Given the description of an element on the screen output the (x, y) to click on. 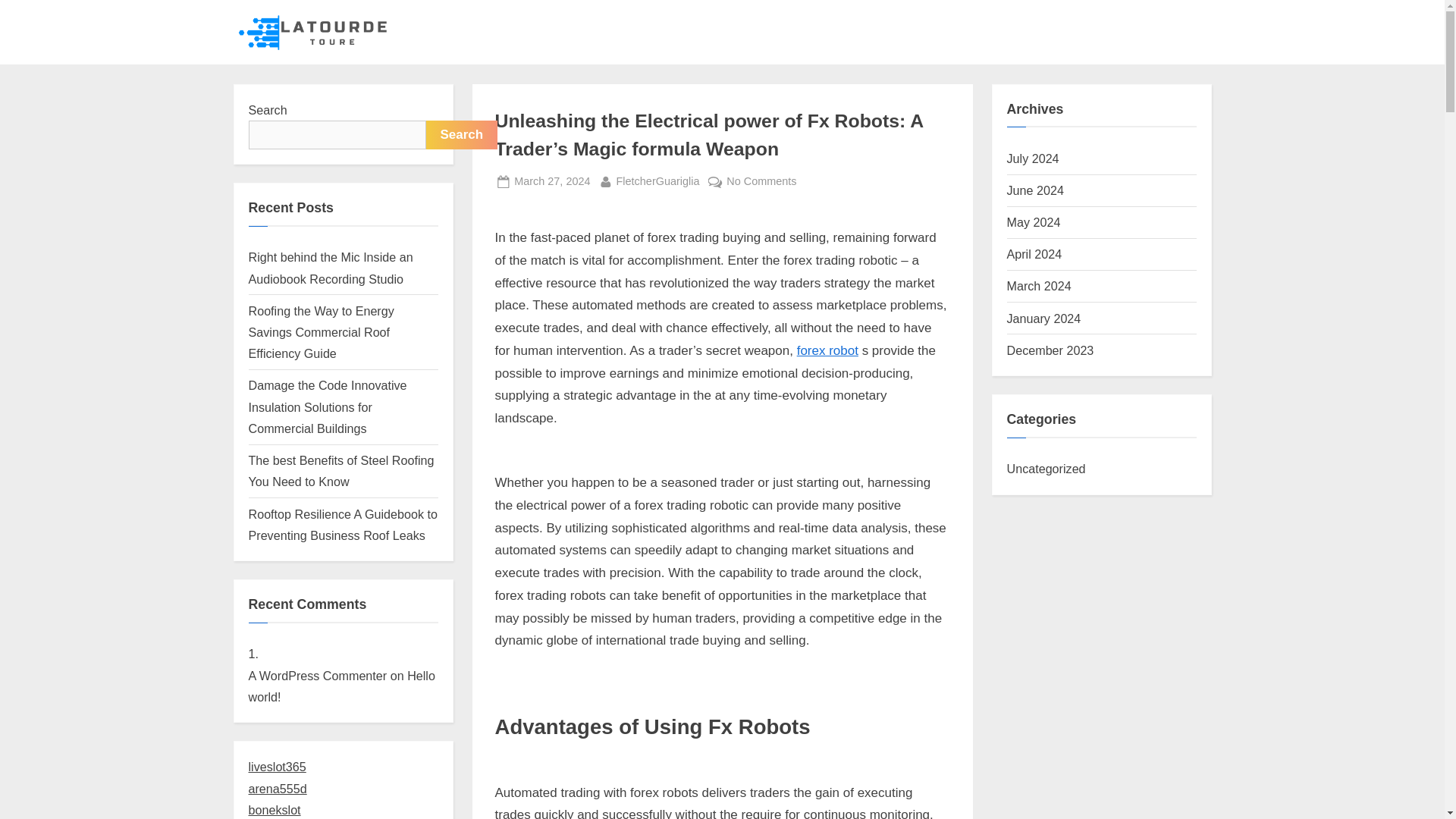
forex robot (827, 350)
latourdetoure (446, 44)
bonekslot (274, 809)
Right behind the Mic Inside an Audiobook Recording Studio (330, 267)
Search (461, 134)
The best Benefits of Steel Roofing You Need to Know (340, 470)
arena555d (277, 788)
liveslot365 (551, 180)
A WordPress Commenter (276, 766)
Hello world! (317, 675)
